Given the description of an element on the screen output the (x, y) to click on. 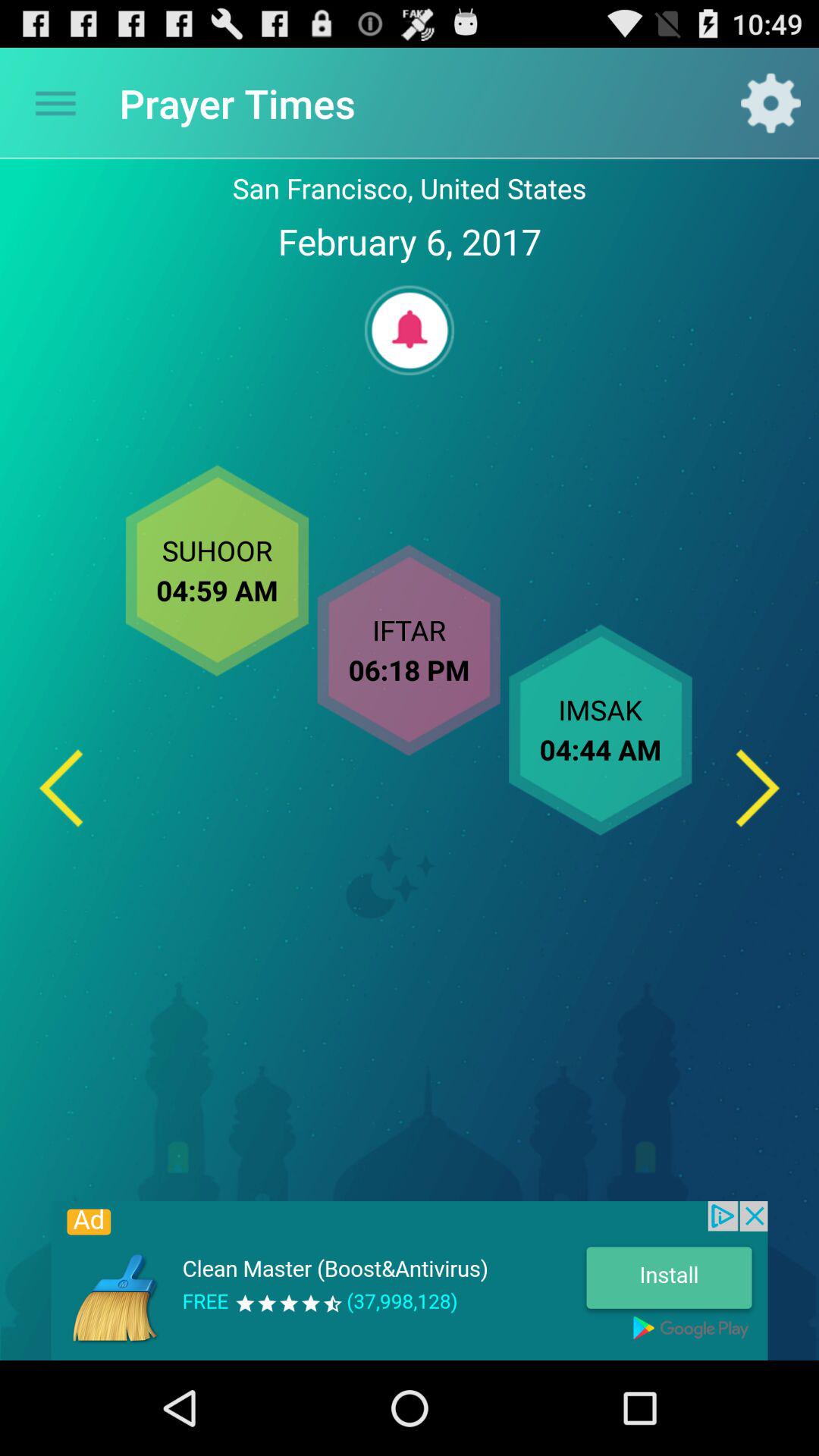
previous day (60, 787)
